Given the description of an element on the screen output the (x, y) to click on. 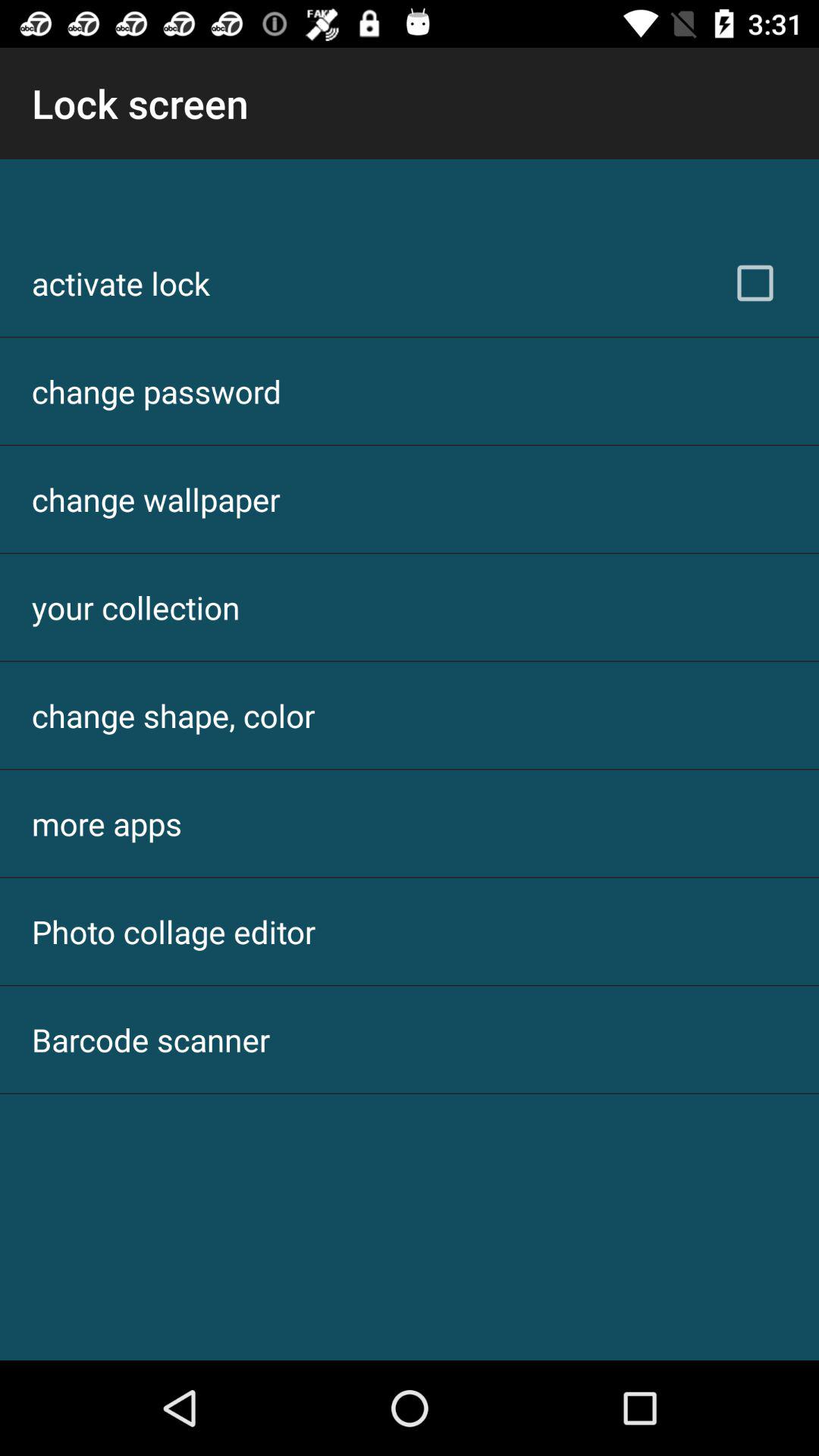
launch item below photo collage editor icon (150, 1039)
